Given the description of an element on the screen output the (x, y) to click on. 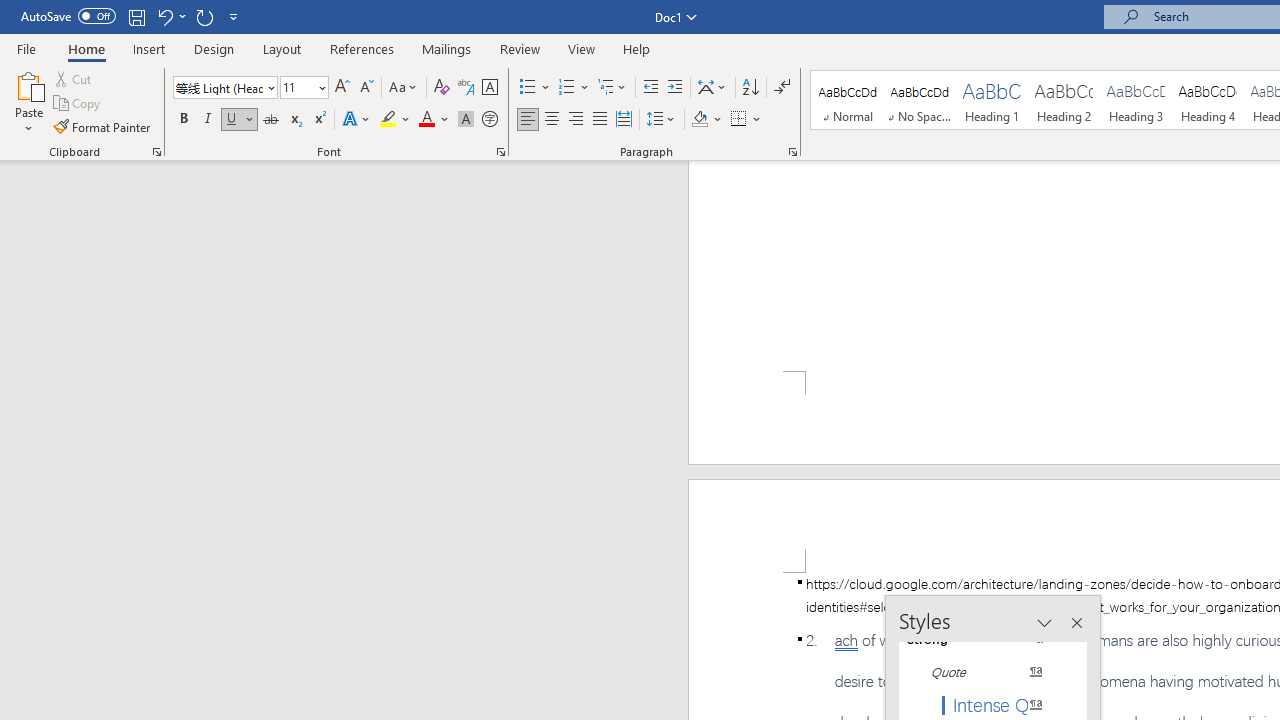
Heading 4 (1208, 100)
